Given the description of an element on the screen output the (x, y) to click on. 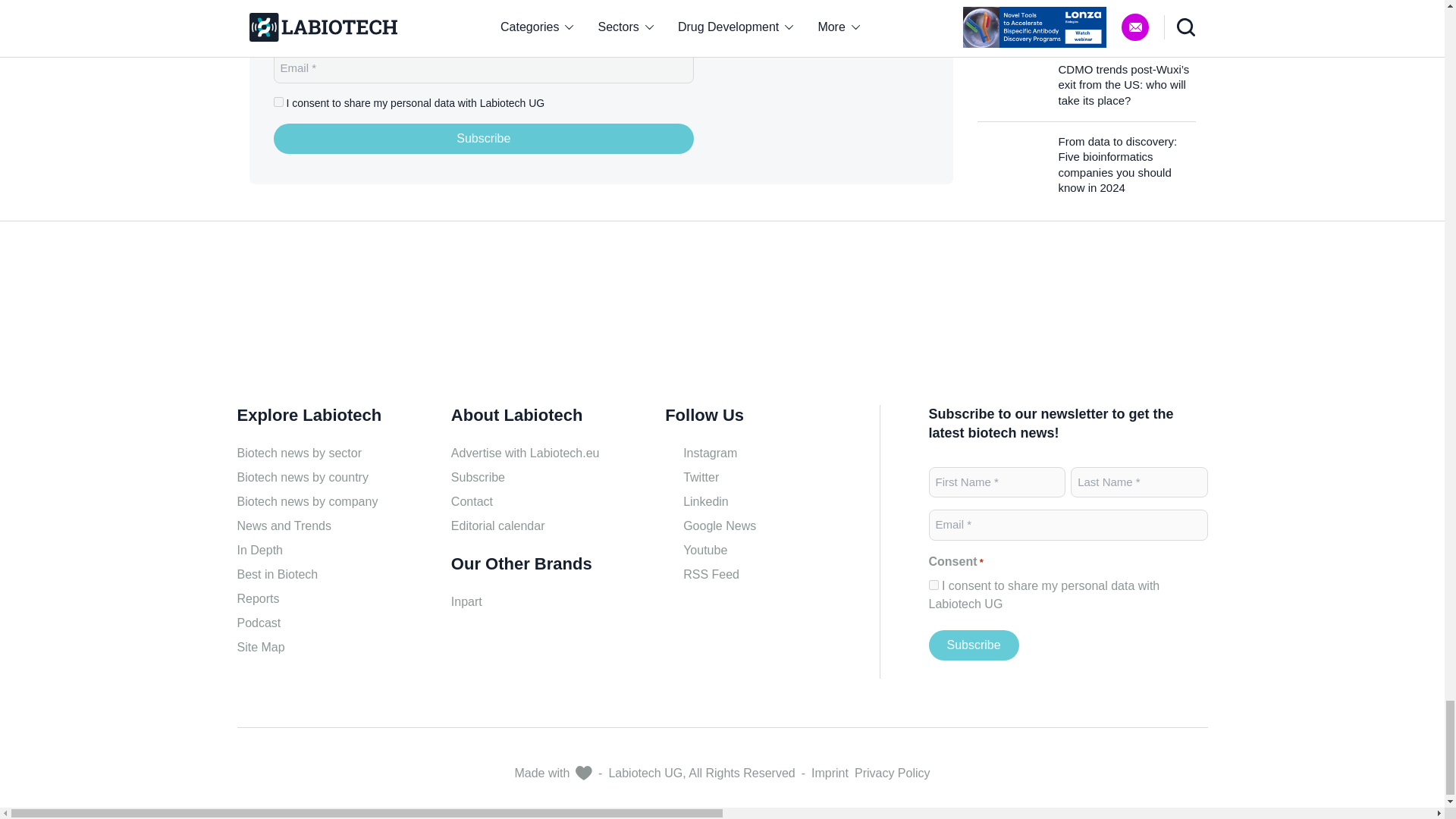
1 (277, 102)
Labiotech.eu (834, 92)
Subscribe (483, 138)
1 (932, 584)
Subscribe (972, 644)
